Given the description of an element on the screen output the (x, y) to click on. 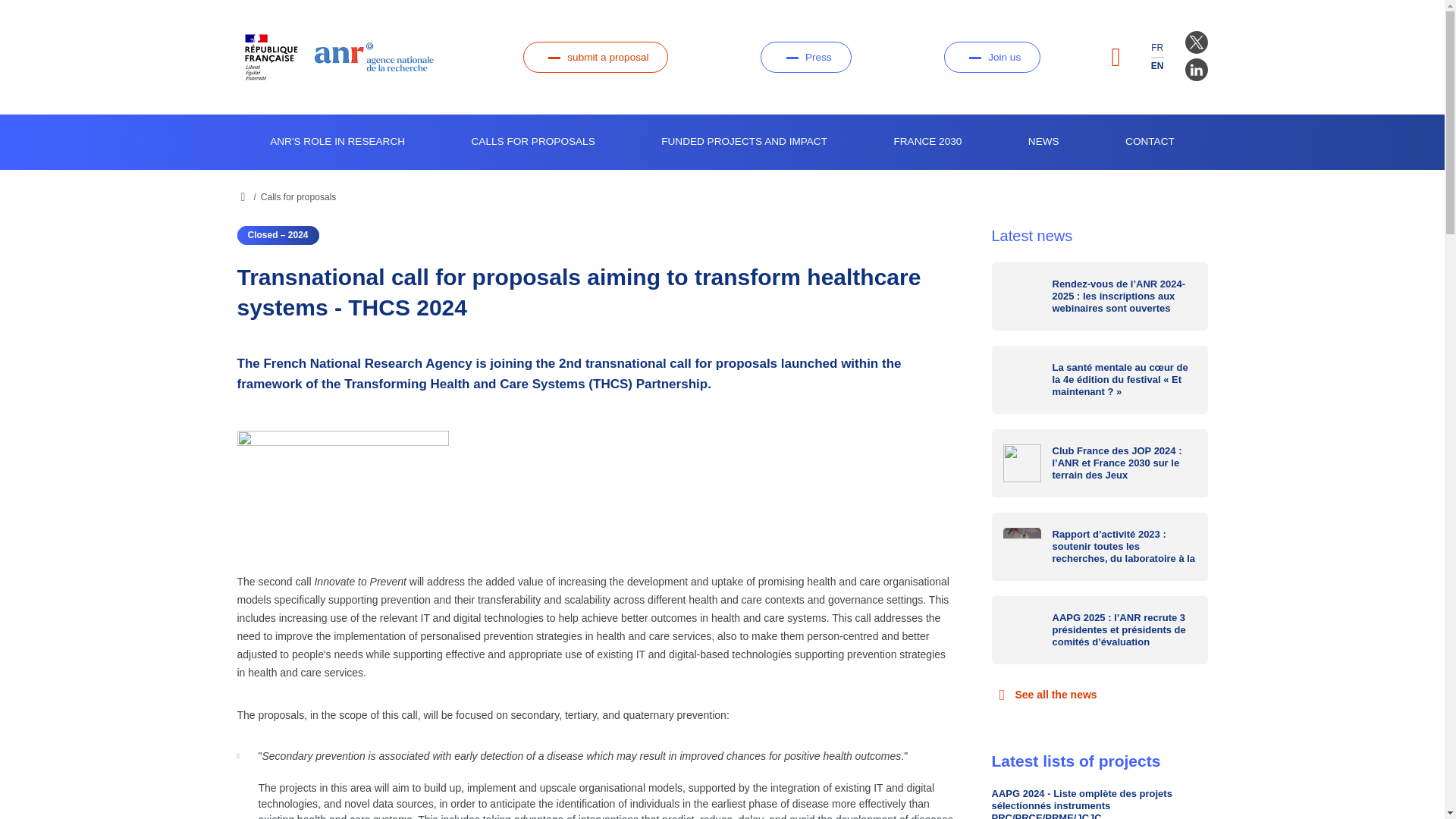
Press (805, 56)
ANR'S ROLE IN RESEARCH (336, 141)
Join us (992, 56)
FR (1157, 47)
EN (1157, 65)
submit a proposal (595, 56)
